Given the description of an element on the screen output the (x, y) to click on. 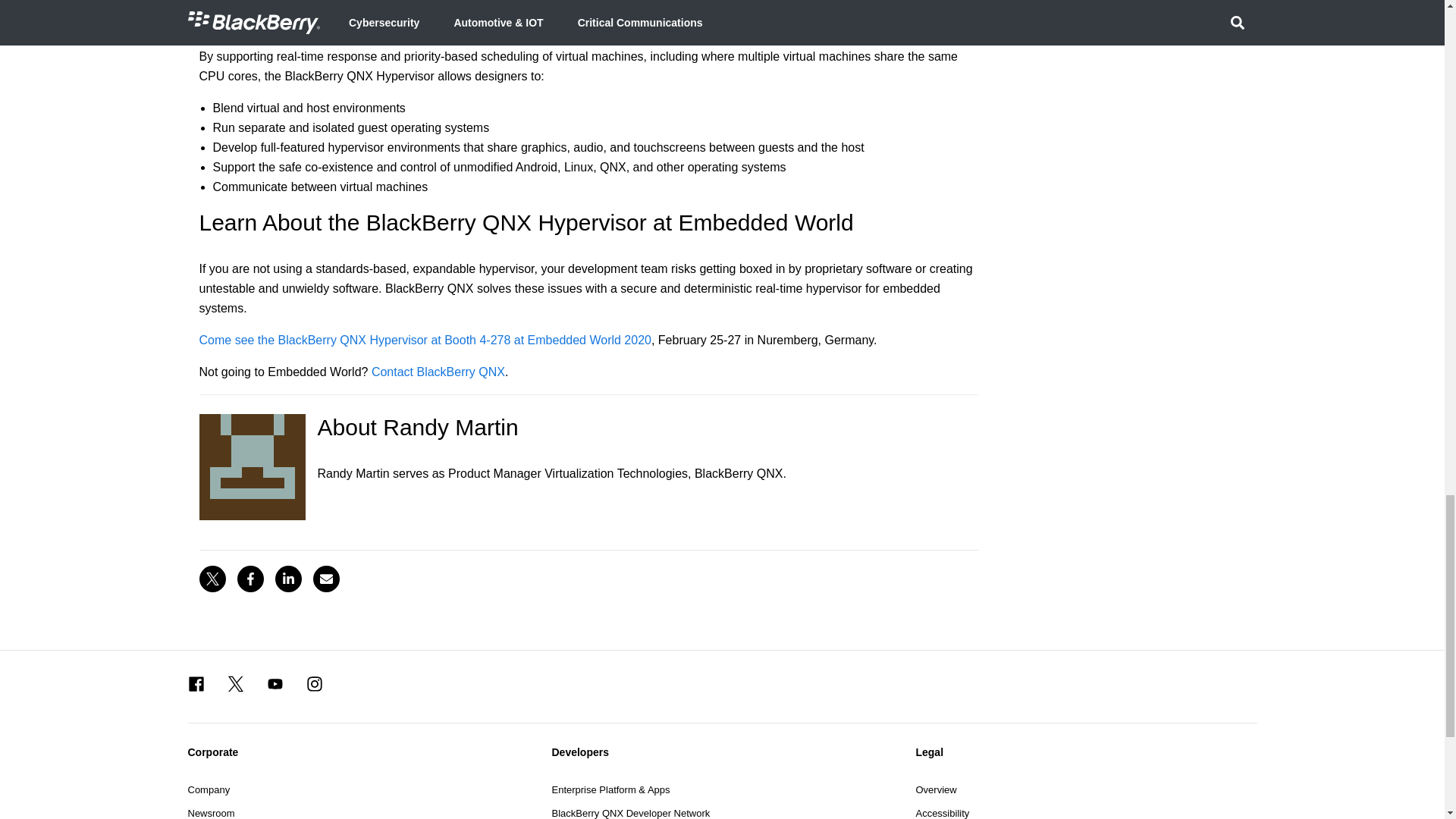
BlackBerry QNX Developer Network (630, 812)
Share on X (211, 578)
Contact BlackBerry QNX (438, 371)
Share on LinkedIn (288, 578)
Developers (721, 752)
Company (208, 789)
Share on X (211, 578)
Share on Facebook (249, 578)
Corporate (358, 752)
